Given the description of an element on the screen output the (x, y) to click on. 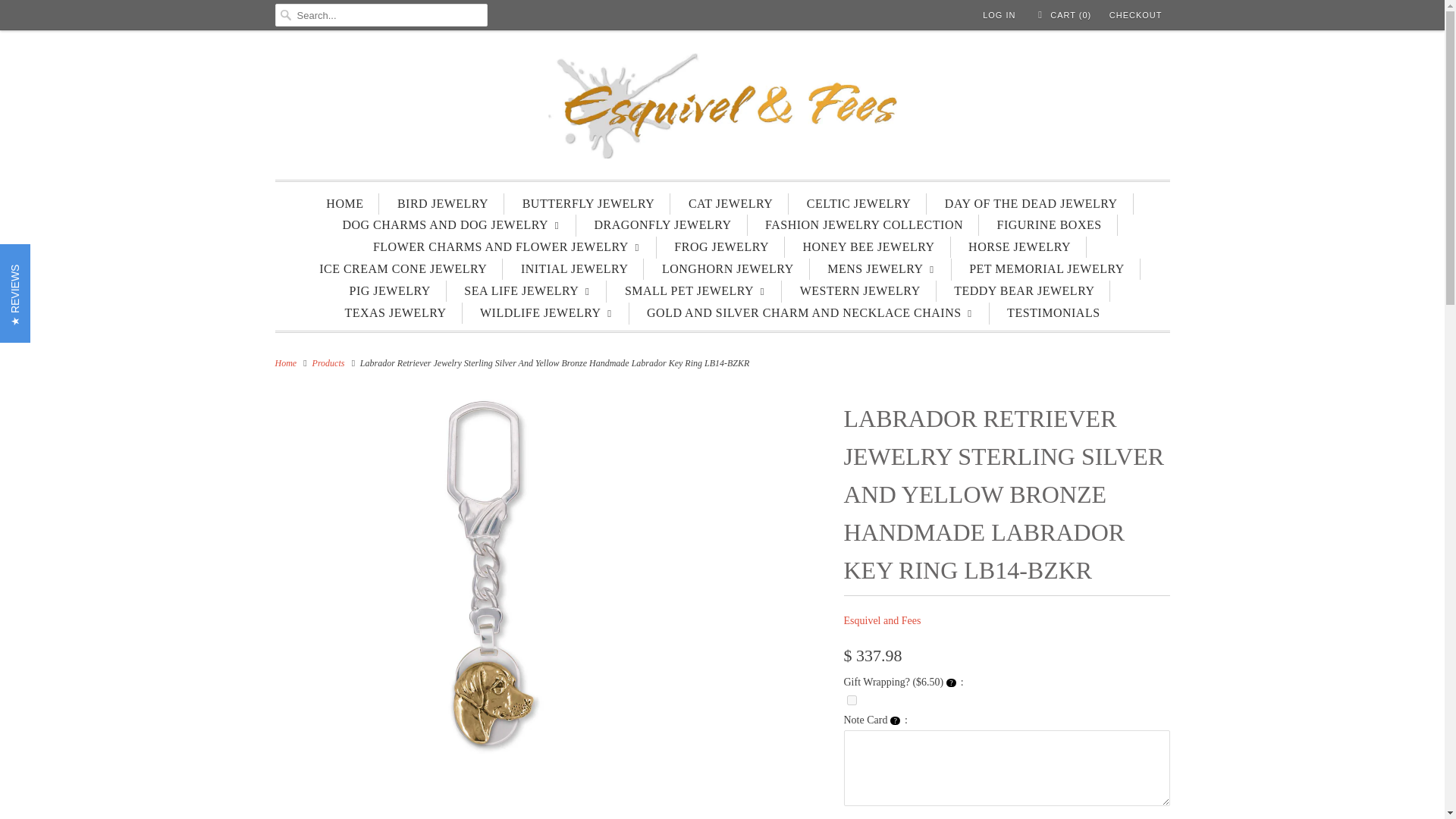
LOG IN (998, 15)
Products (329, 362)
Esquivel and Fees (881, 620)
Esquivel And Fees (286, 362)
CHECKOUT (1135, 15)
Esquivel And Fees (721, 108)
